Given the description of an element on the screen output the (x, y) to click on. 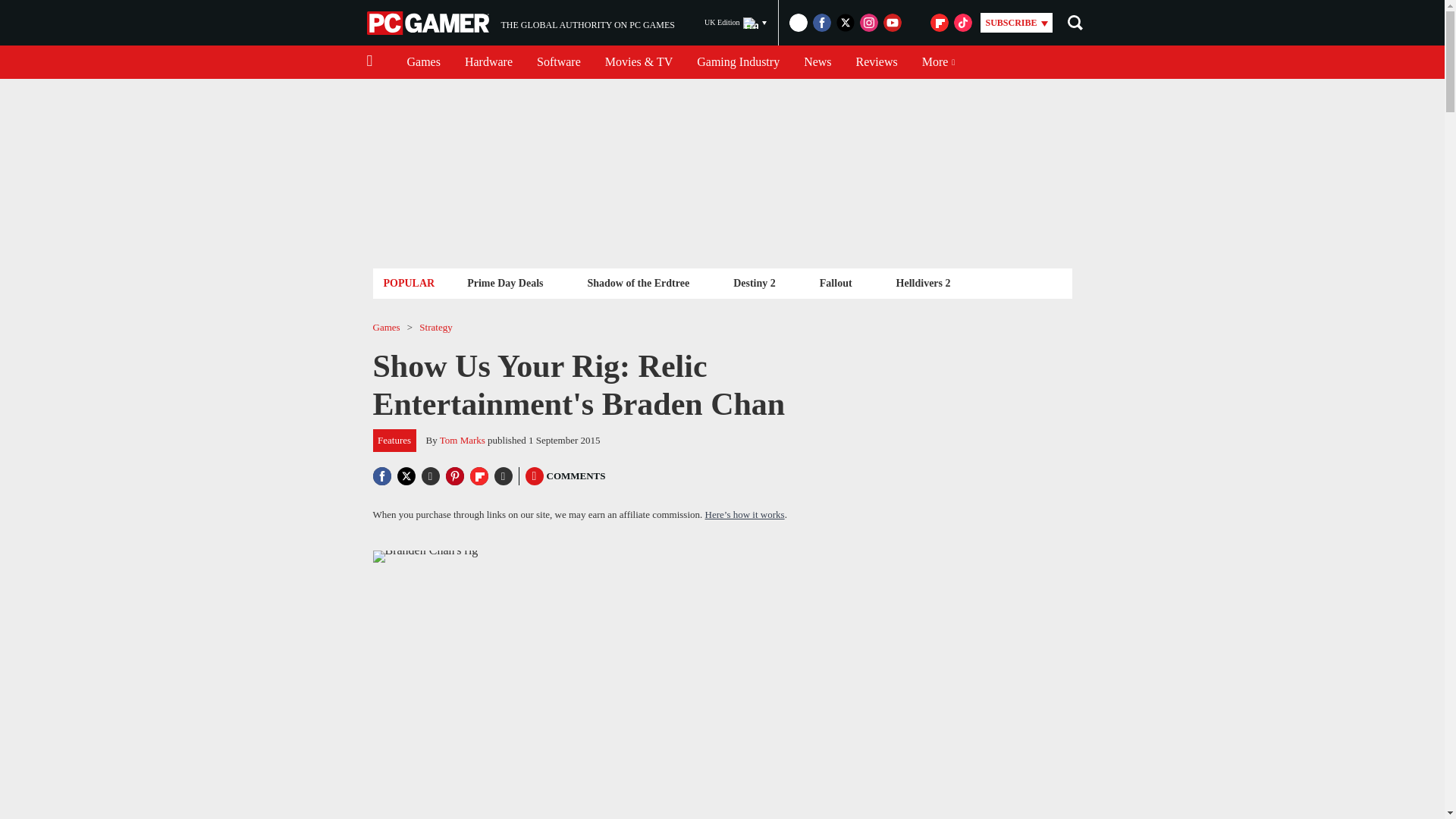
Software (558, 61)
Shadow of the Erdtree (637, 282)
Reviews (877, 61)
Games (422, 61)
PC Gamer (429, 22)
UK Edition (735, 22)
Hardware (488, 61)
Prime Day Deals (504, 282)
News (817, 61)
Gaming Industry (520, 22)
